Given the description of an element on the screen output the (x, y) to click on. 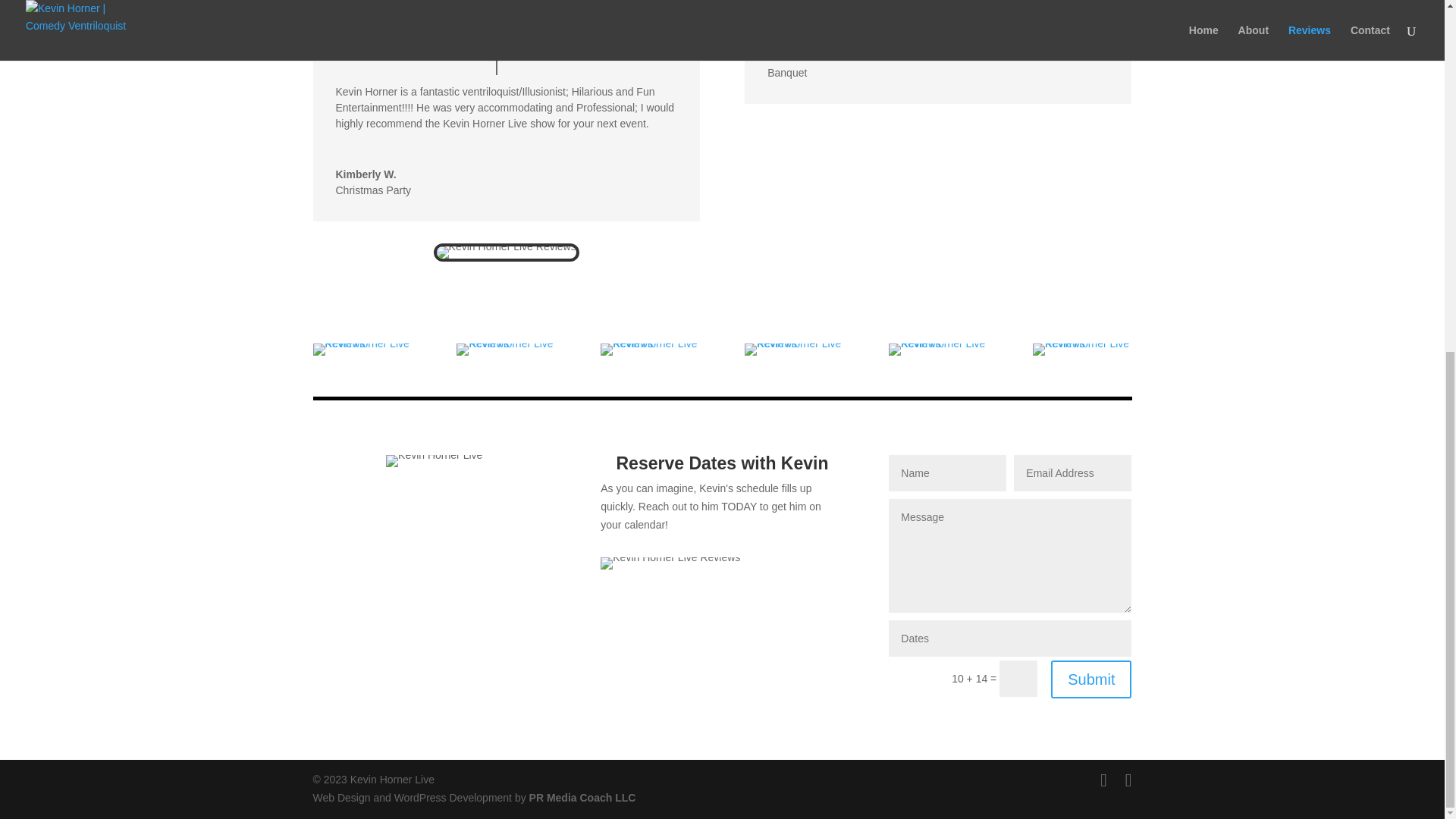
Screen Shot 2023-02-10 at 9.43.59 AM (937, 349)
Kevin Horner Monkey (506, 252)
PR Media Coach LLC (582, 797)
Screen Shot 2023-02-10 at 9.43.34 AM (793, 349)
Screen Shot 2023-02-10 at 9.44.10 AM (1081, 349)
Kevin Horner Live Audience (669, 563)
Screen Shot 2023-02-10 at 9.43.08 AM (505, 349)
Kevin Horner Book Now (433, 460)
Submit (1091, 679)
Screen Shot 2023-02-10 at 9.42.30 AM (361, 349)
